Given the description of an element on the screen output the (x, y) to click on. 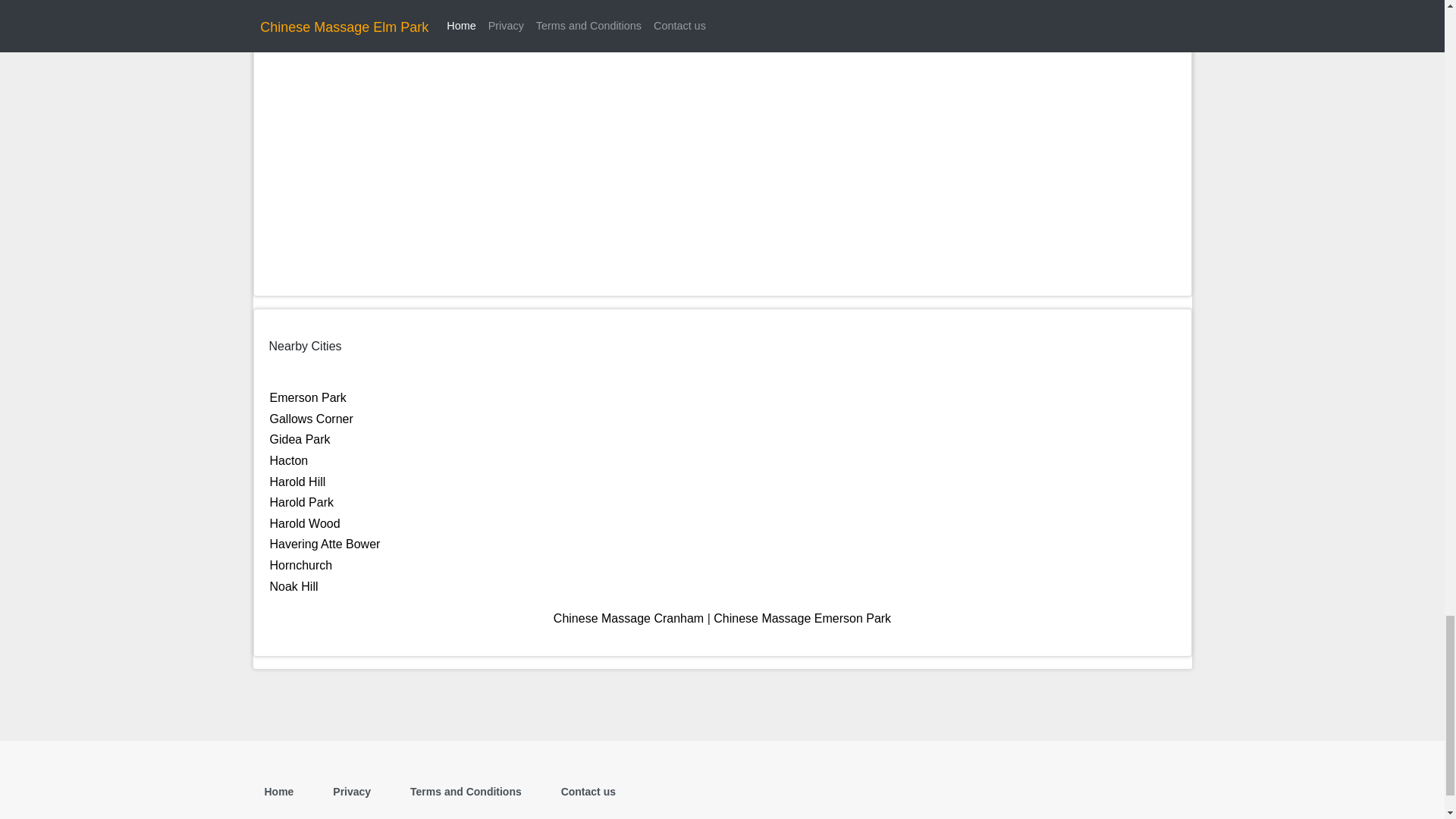
Hornchurch (301, 564)
Noak Hill (293, 585)
Gidea Park (299, 439)
Harold Wood (304, 522)
Harold Park (301, 502)
Hacton (288, 460)
Harold Hill (297, 481)
Havering Atte Bower (324, 543)
Emerson Park (307, 397)
Gallows Corner (311, 418)
Chinese Massage Emerson Park (802, 617)
Chinese Massage Cranham (628, 617)
